Given the description of an element on the screen output the (x, y) to click on. 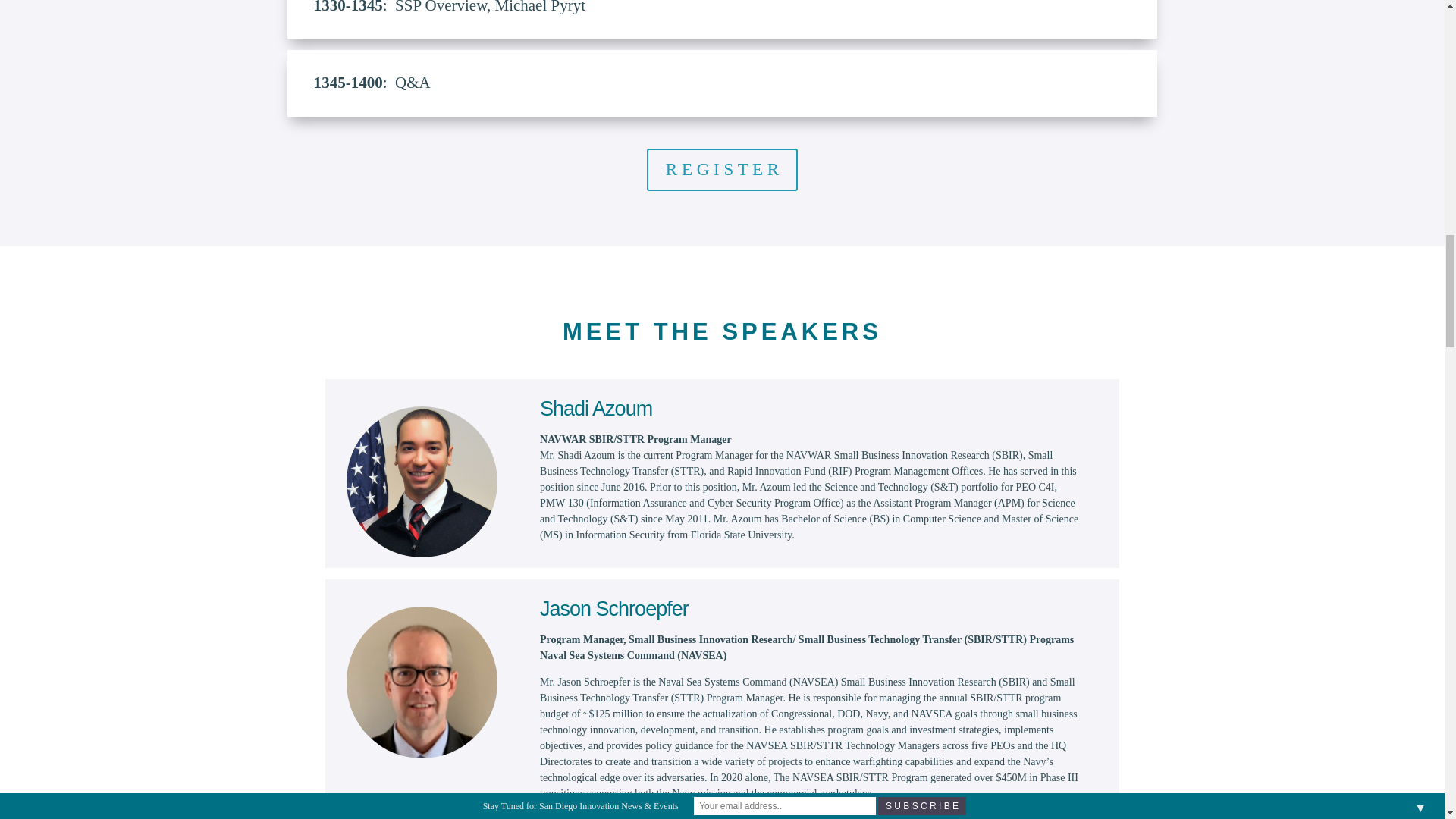
R E G I S T E R (721, 169)
Jason Schroepfer (421, 681)
